Given the description of an element on the screen output the (x, y) to click on. 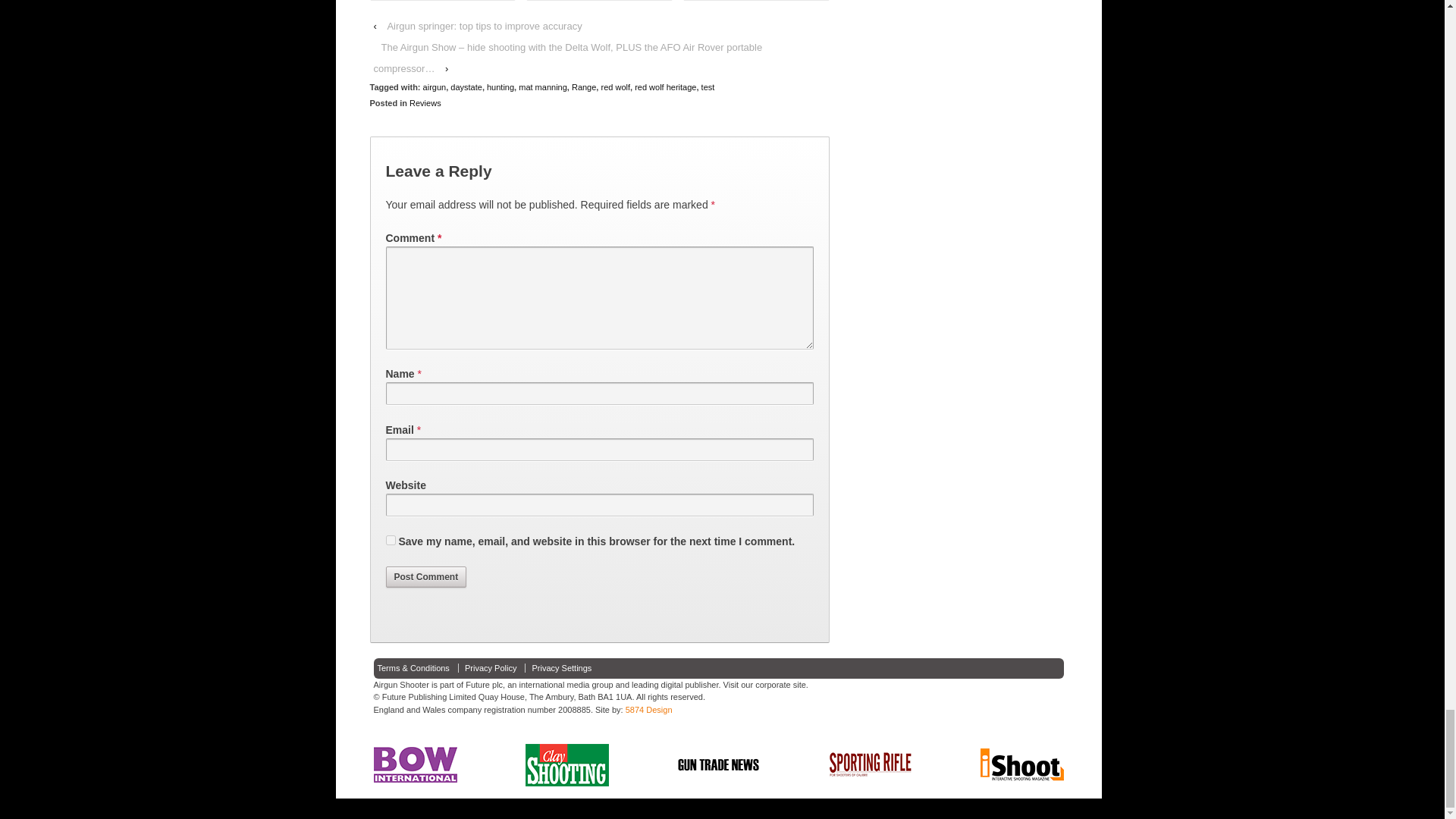
yes (389, 540)
Post Comment (425, 577)
